Given the description of an element on the screen output the (x, y) to click on. 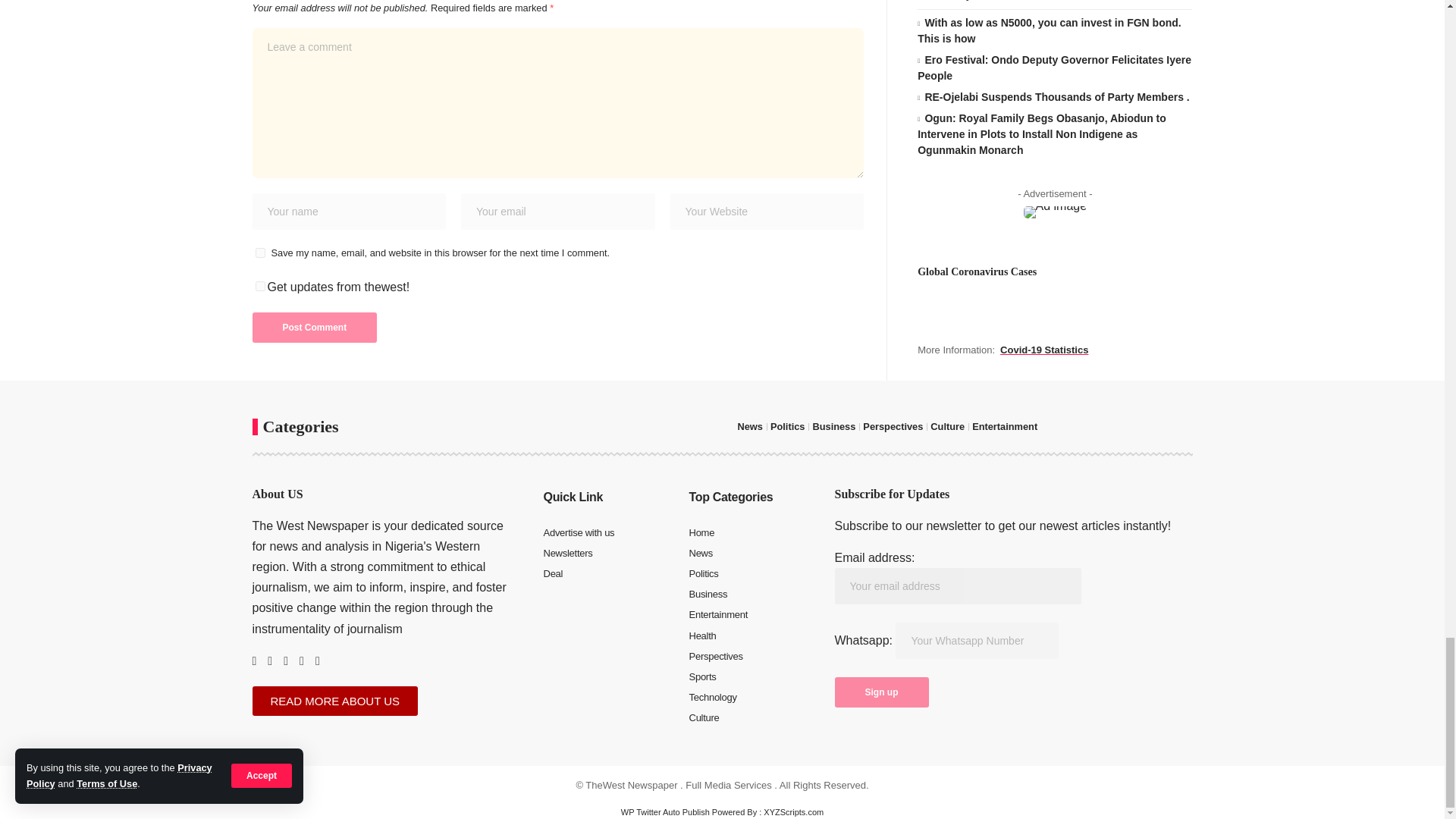
WP Twitter Auto Publish (665, 811)
yes (259, 252)
Post Comment (314, 327)
1 (259, 286)
Sign up (881, 692)
